Given the description of an element on the screen output the (x, y) to click on. 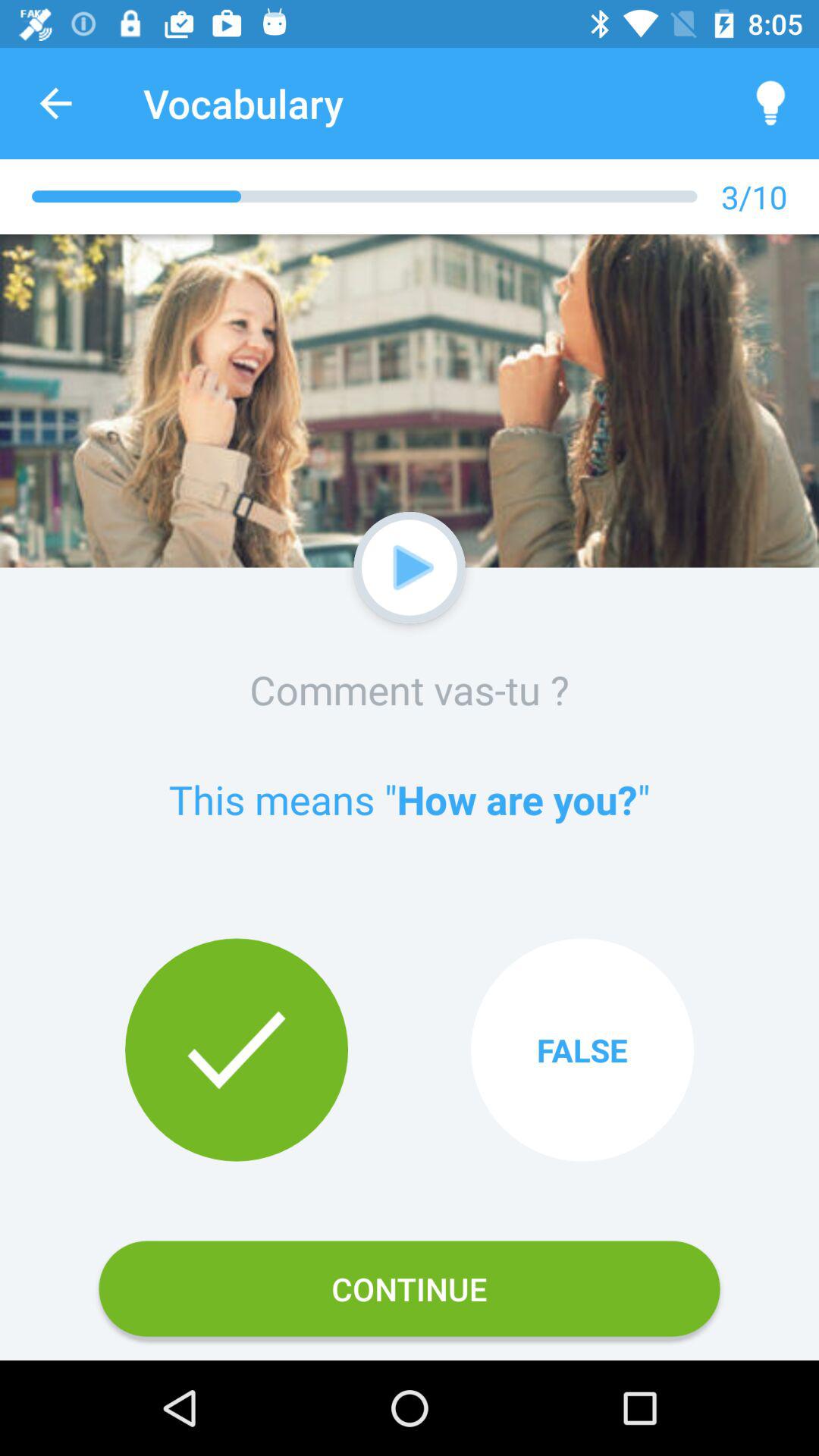
click the item next to the vocabulary item (55, 103)
